Given the description of an element on the screen output the (x, y) to click on. 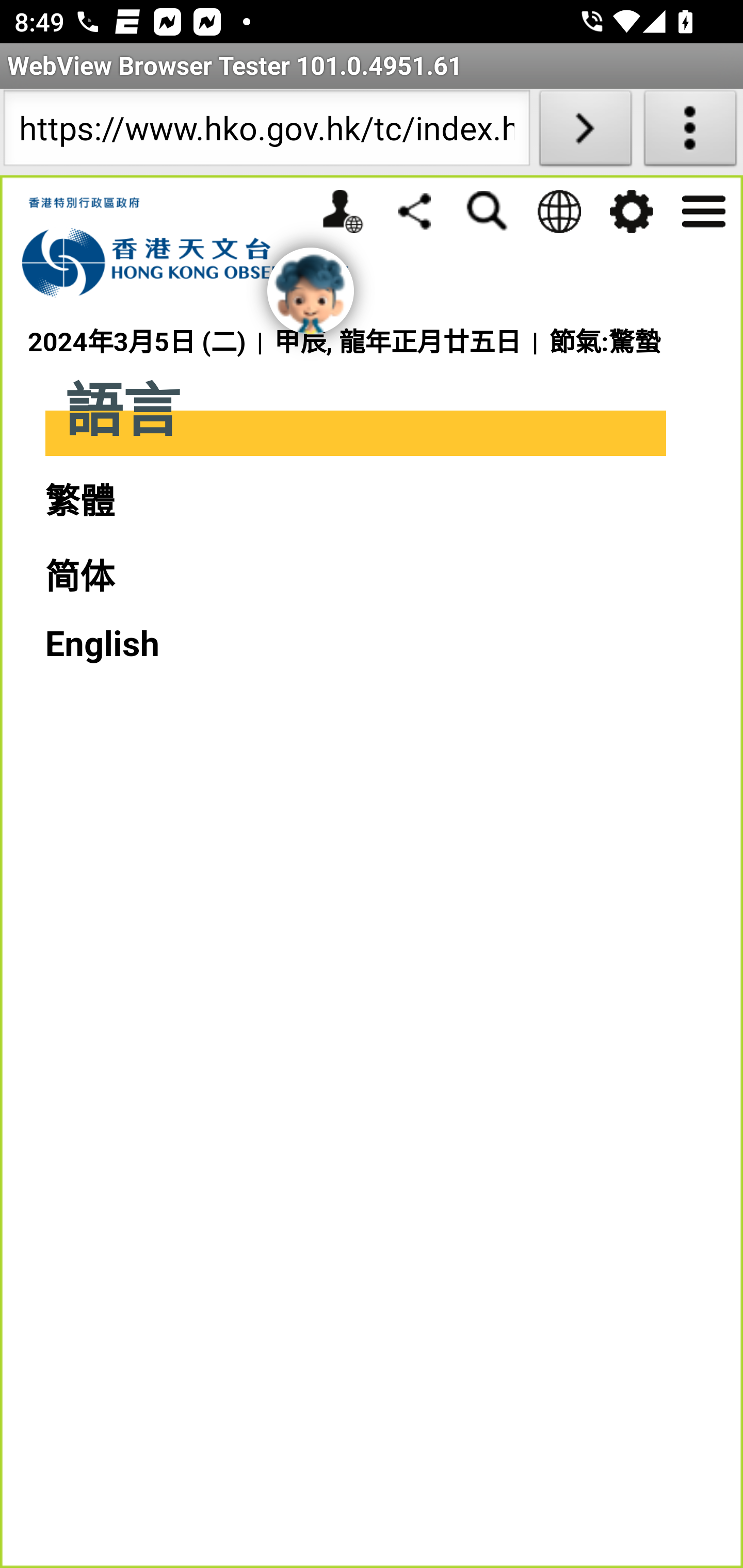
https://www.hko.gov.hk/tc/index.html (266, 132)
Load URL (585, 132)
About WebView (690, 132)
香港天文台 (195, 247)
個人版網站 個人版網站 (341, 211)
搜尋 搜尋 (486, 211)
語言 語言 (558, 211)
分享 分享 (414, 210)
選單 選單 (703, 209)
與「度天隊長」聊天 (311, 291)
繁體 (79, 501)
简体 (79, 577)
English (101, 644)
